Given the description of an element on the screen output the (x, y) to click on. 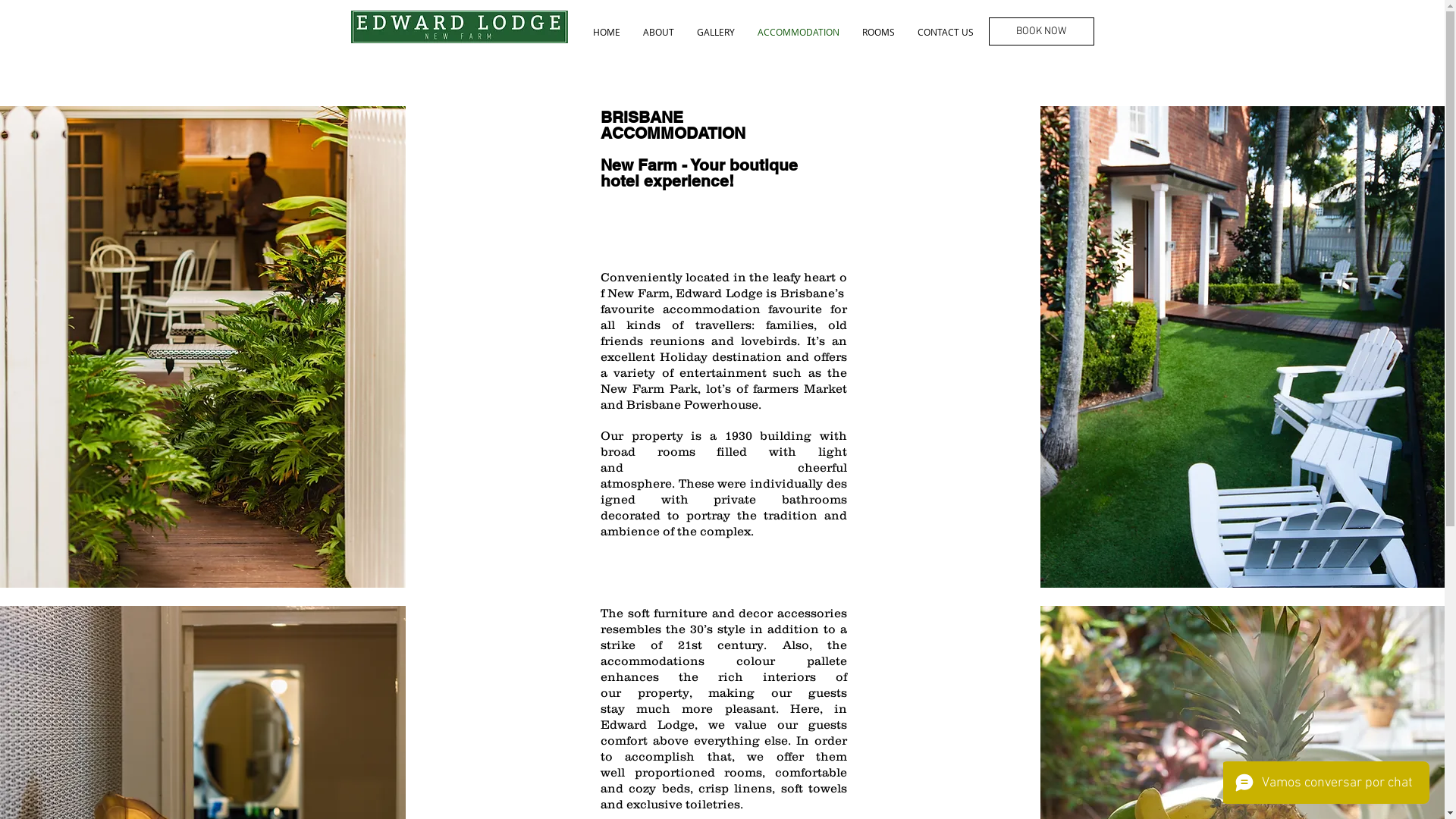
GALLERY Element type: text (715, 31)
BOOK NOW Element type: text (1041, 31)
ABOUT Element type: text (657, 31)
HOME Element type: text (605, 31)
CONTACT US Element type: text (944, 31)
ACCOMMODATION Element type: text (798, 31)
ROOMS Element type: text (878, 31)
